Given the description of an element on the screen output the (x, y) to click on. 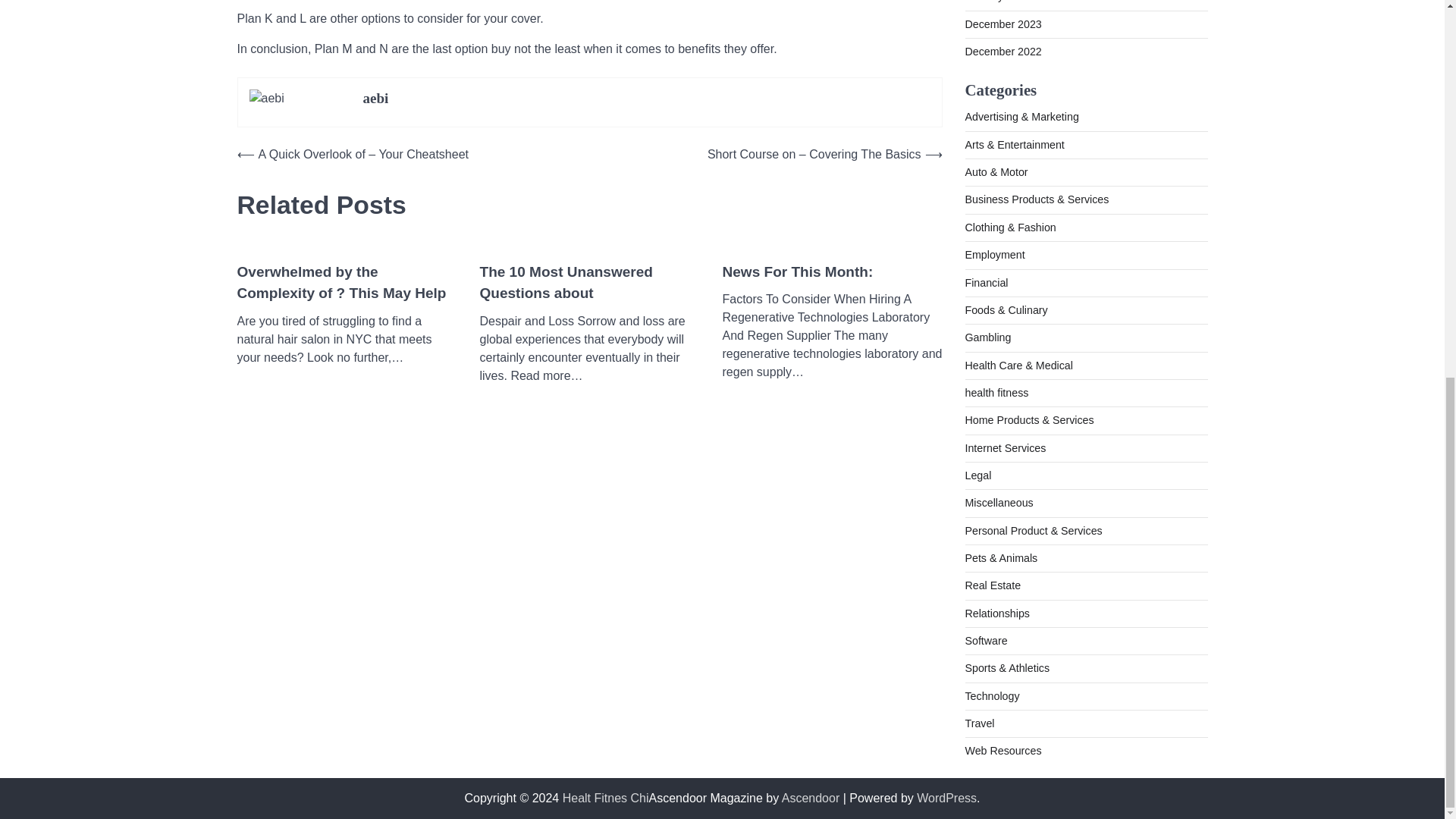
News For This Month: (797, 272)
Overwhelmed by the Complexity of ? This May Help (346, 282)
December 2023 (1002, 24)
Financial (985, 282)
December 2022 (1002, 51)
Employment (994, 254)
January 2024 (996, 1)
The 10 Most Unanswered Questions about (588, 282)
Gambling (986, 337)
